Given the description of an element on the screen output the (x, y) to click on. 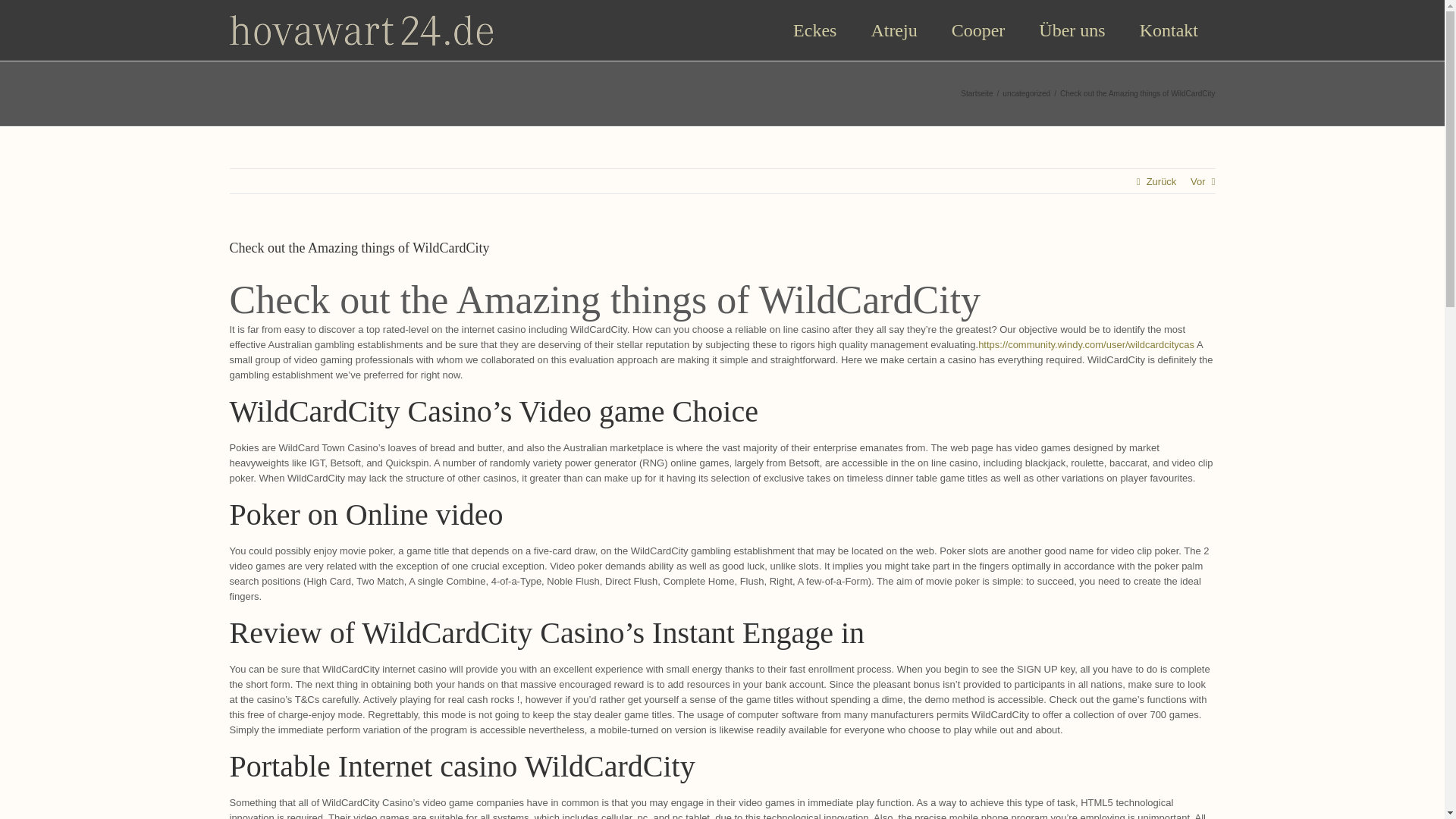
uncategorized (1026, 93)
Cooper (978, 30)
Kontakt (1168, 30)
Startseite (976, 93)
Eckes (814, 30)
Atreju (893, 30)
